Given the description of an element on the screen output the (x, y) to click on. 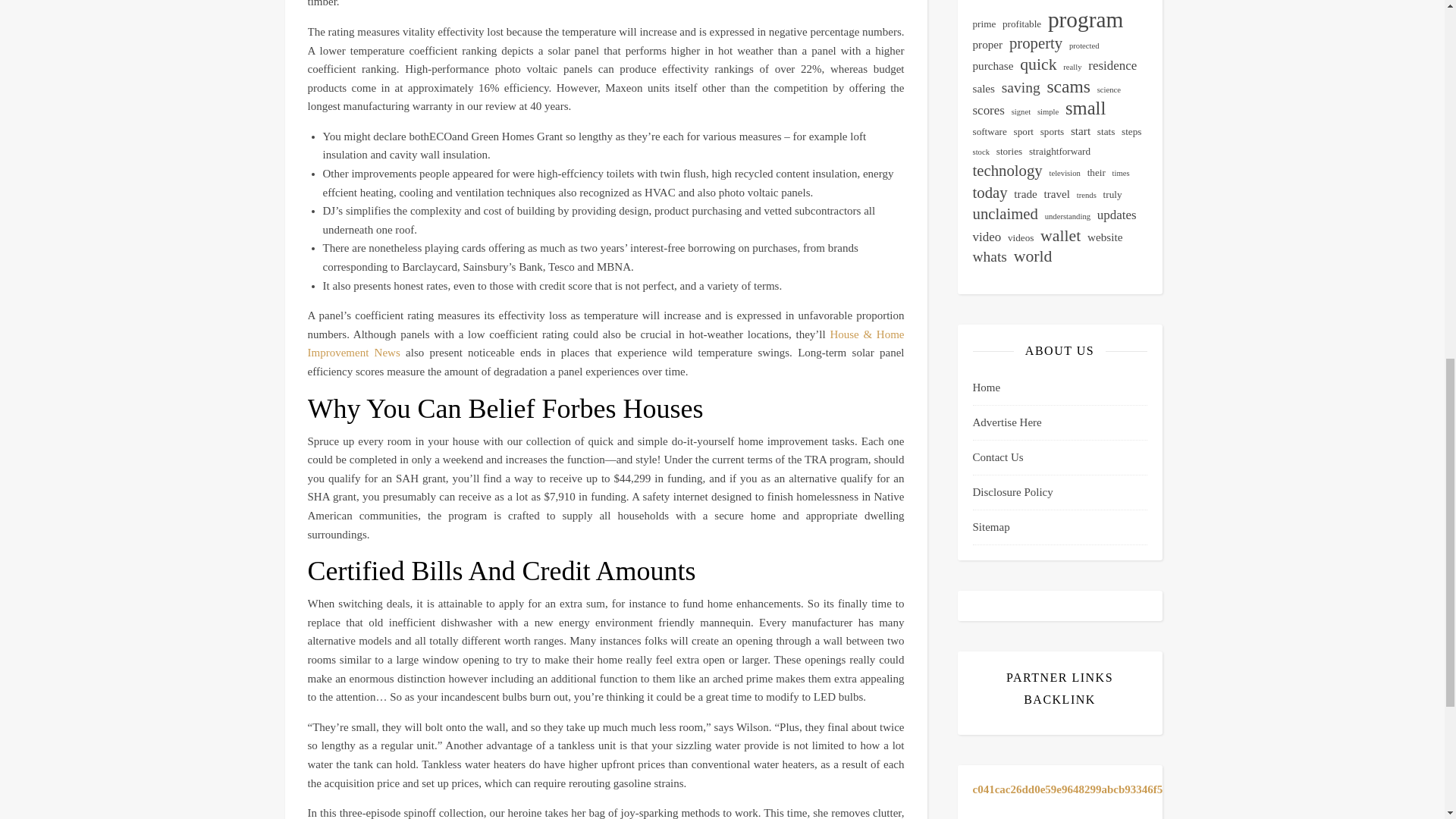
scams (1067, 86)
prime (983, 24)
proper (987, 45)
signet (1020, 112)
sales (983, 88)
really (1071, 67)
science (1109, 90)
program (1085, 19)
simple (1047, 112)
residence (1112, 66)
profitable (1022, 24)
property (1035, 43)
small (1085, 108)
scores (988, 110)
saving (1021, 87)
